Given the description of an element on the screen output the (x, y) to click on. 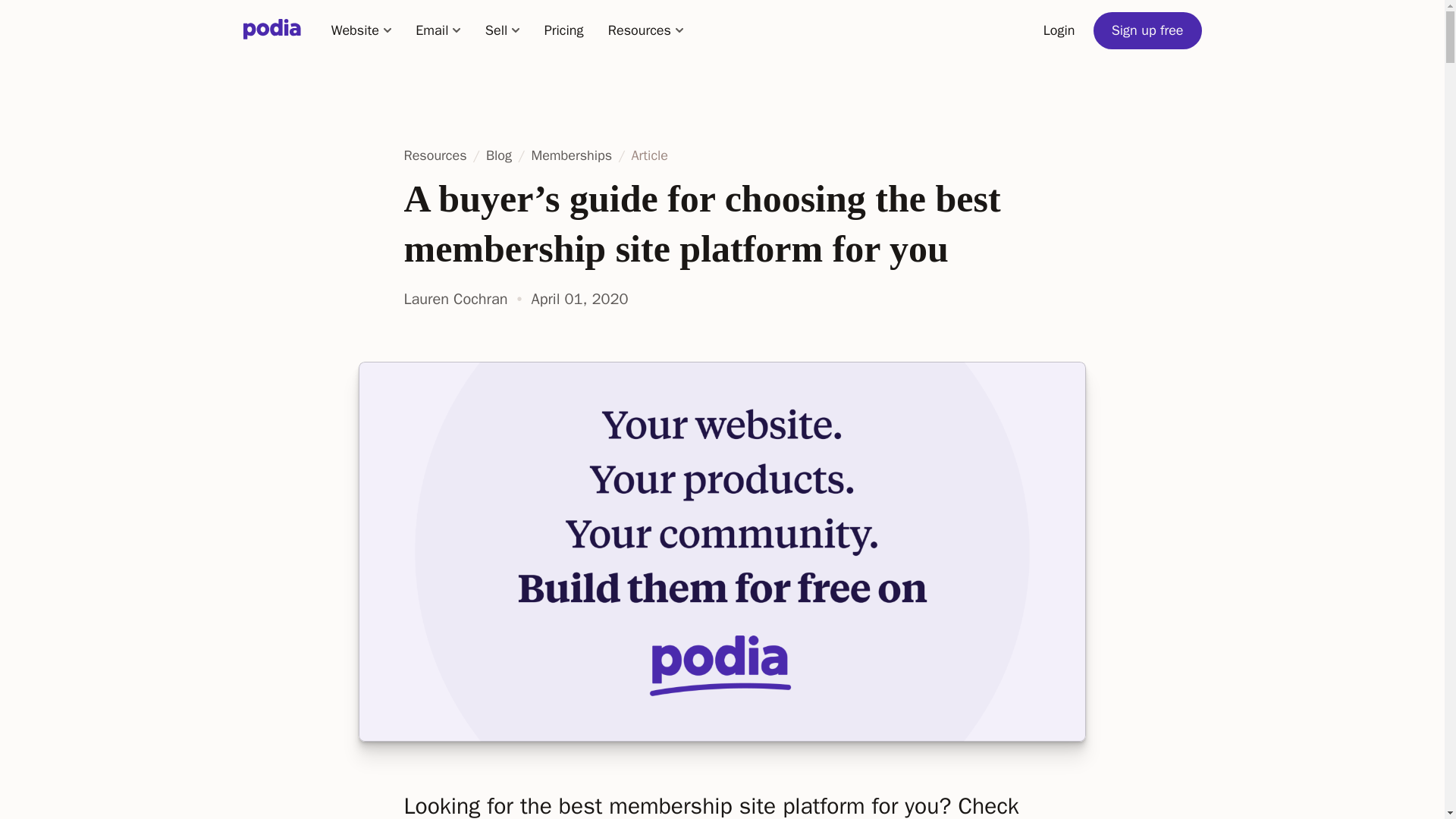
Sign up free (1147, 30)
Memberships (570, 155)
Resources (437, 155)
Sell (502, 30)
Website (360, 30)
Login (1058, 30)
Pricing (563, 30)
Resources (645, 30)
Podia (271, 29)
Blog (499, 155)
Email (438, 30)
